Given the description of an element on the screen output the (x, y) to click on. 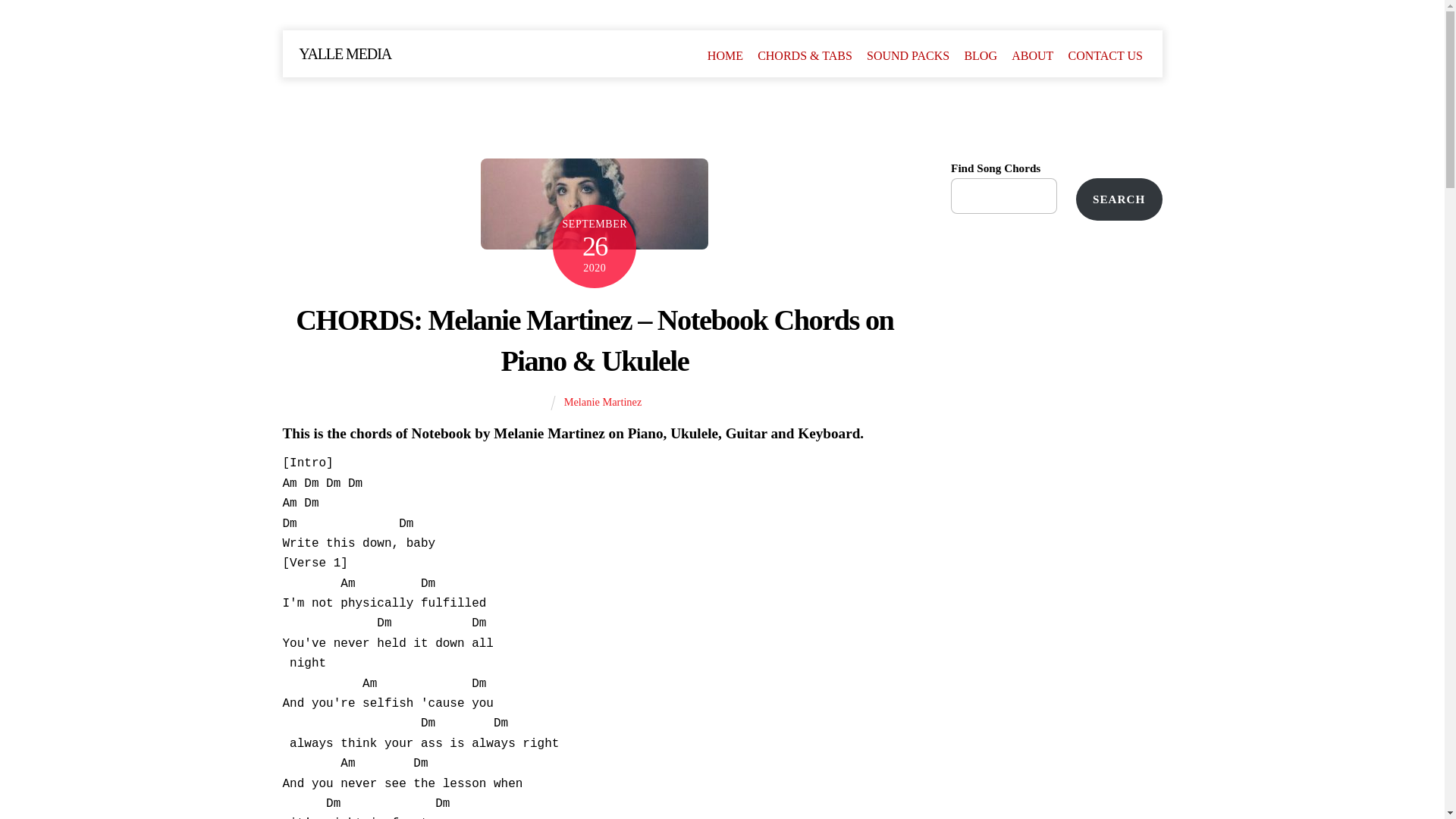
SOUND PACKS (907, 55)
HOME (724, 55)
Yalle Media (344, 53)
Melanie Martinez yallemedia.com chord (593, 203)
YALLE MEDIA (344, 53)
SEARCH (1118, 199)
BLOG (980, 55)
CONTACT US (1105, 55)
ABOUT (1032, 55)
Melanie Martinez (603, 401)
